Given the description of an element on the screen output the (x, y) to click on. 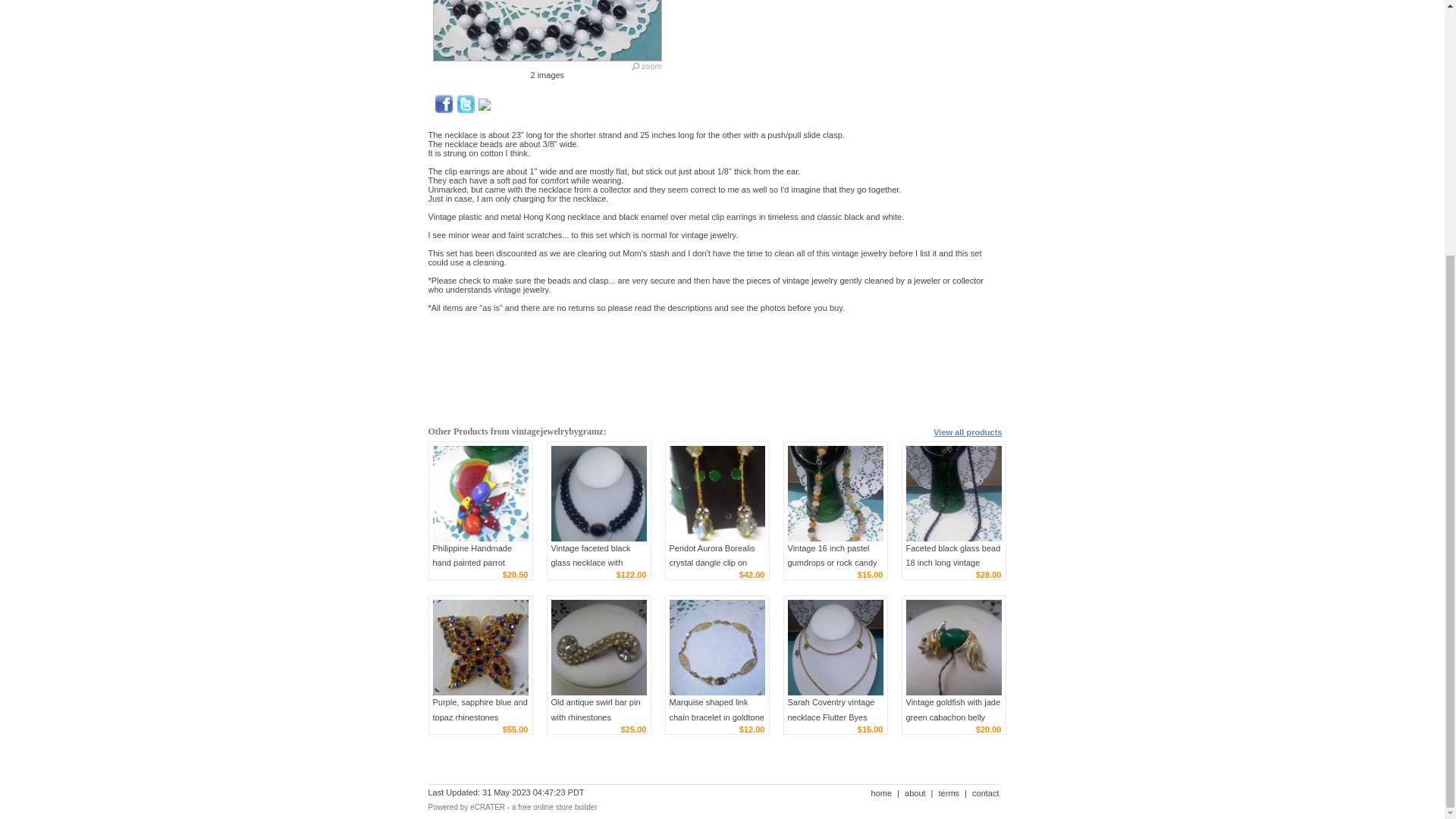
Philippine Handmade hand painted parrot eating fruit pin (479, 493)
Philippine Handmade hand painted parrot eating fruit pin (472, 562)
Faceted black glass bead 18 inch long vintage necklace (952, 562)
